Given the description of an element on the screen output the (x, y) to click on. 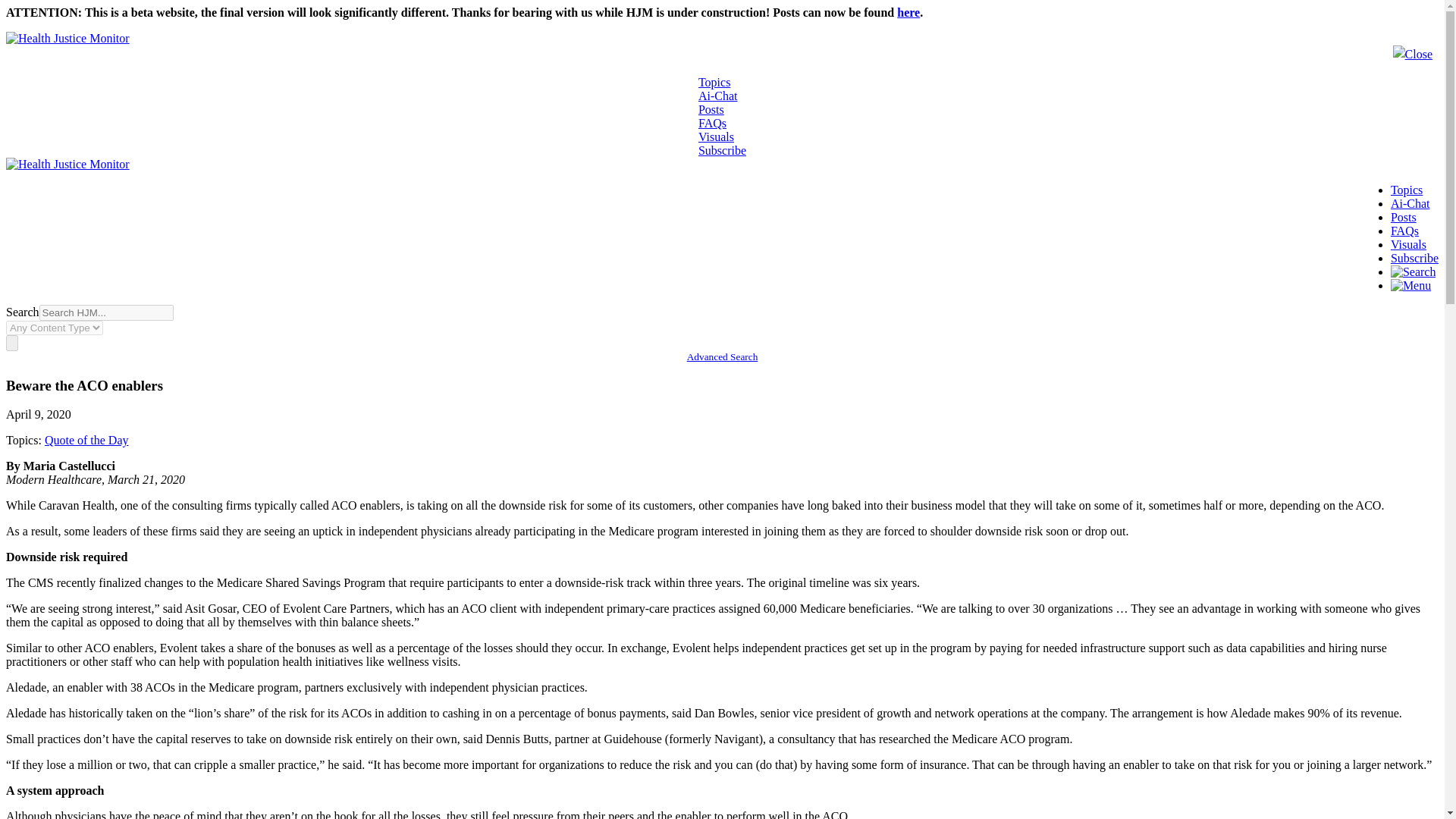
Topic within  (87, 440)
Posts (1403, 216)
Posts (710, 109)
Visuals (1408, 244)
Subscribe (721, 150)
FAQs (1404, 230)
Ai-Chat (718, 95)
Advanced Search (722, 356)
Ai-Chat (1409, 203)
Topics (1406, 189)
